Given the description of an element on the screen output the (x, y) to click on. 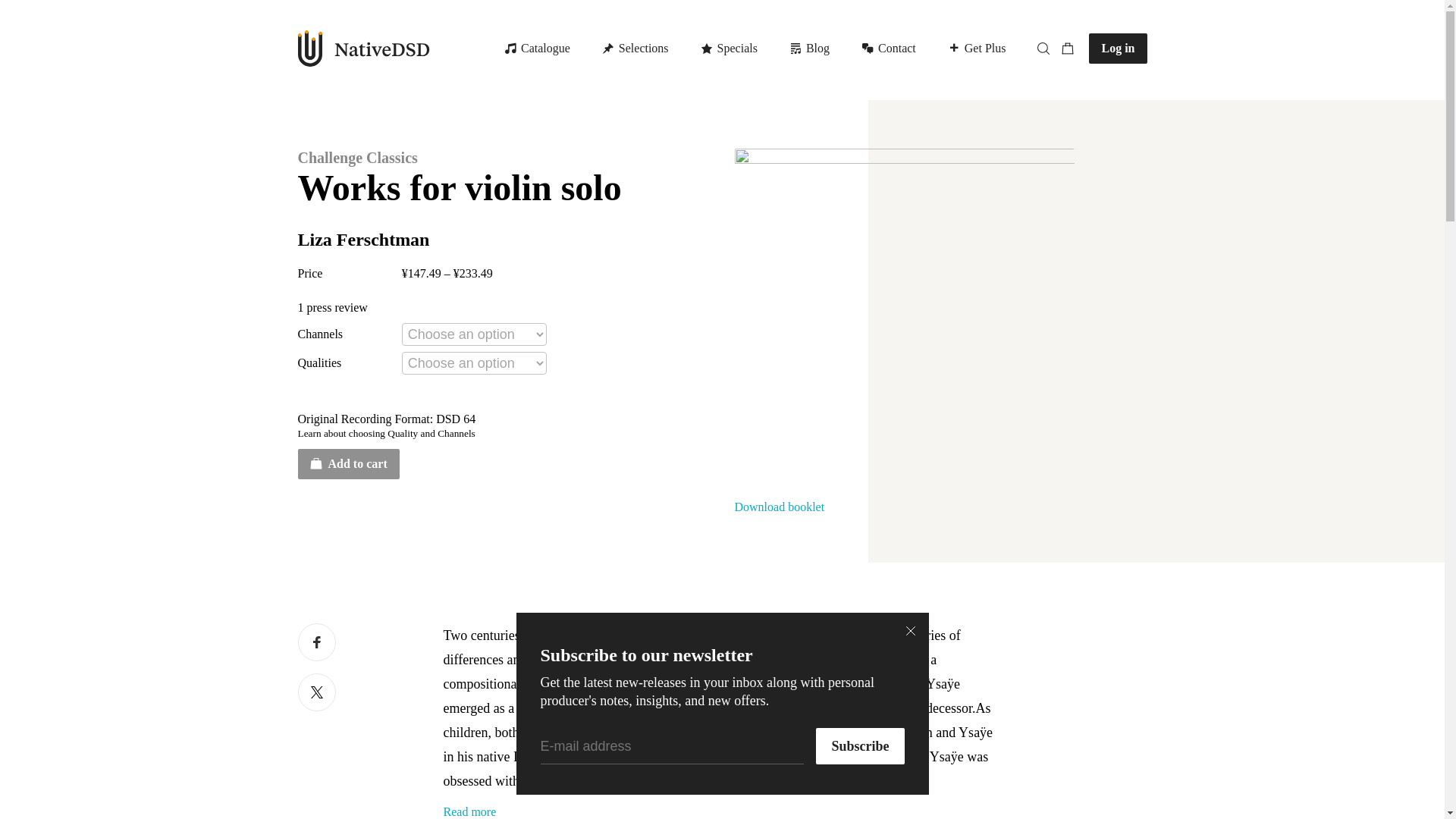
Catalogue (539, 48)
NativeDSD (363, 48)
Close (909, 630)
Subscribe (859, 746)
Subscribe (779, 48)
NativeDSD (859, 746)
Selections (779, 48)
